Given the description of an element on the screen output the (x, y) to click on. 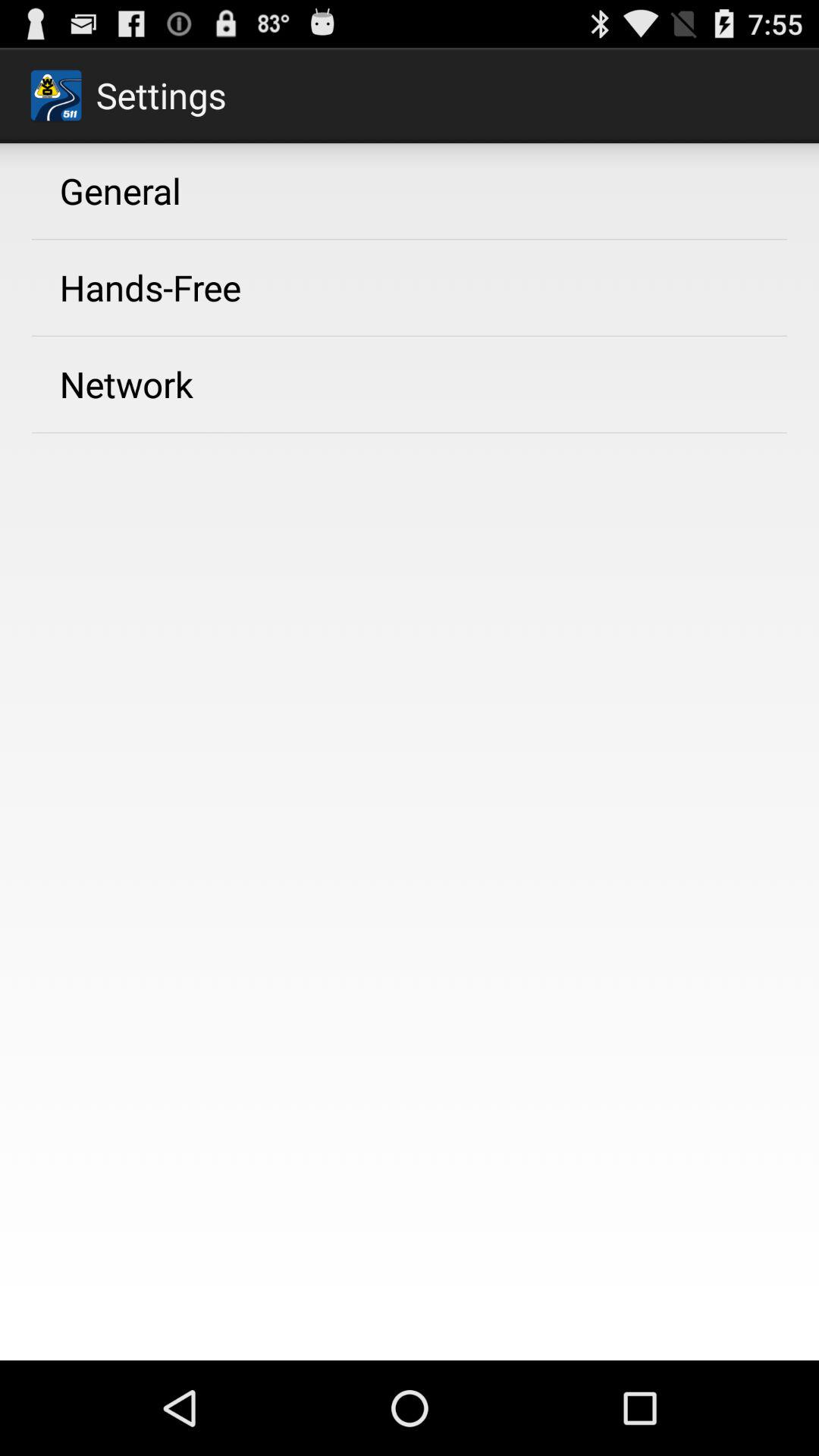
choose the item above network icon (150, 287)
